Given the description of an element on the screen output the (x, y) to click on. 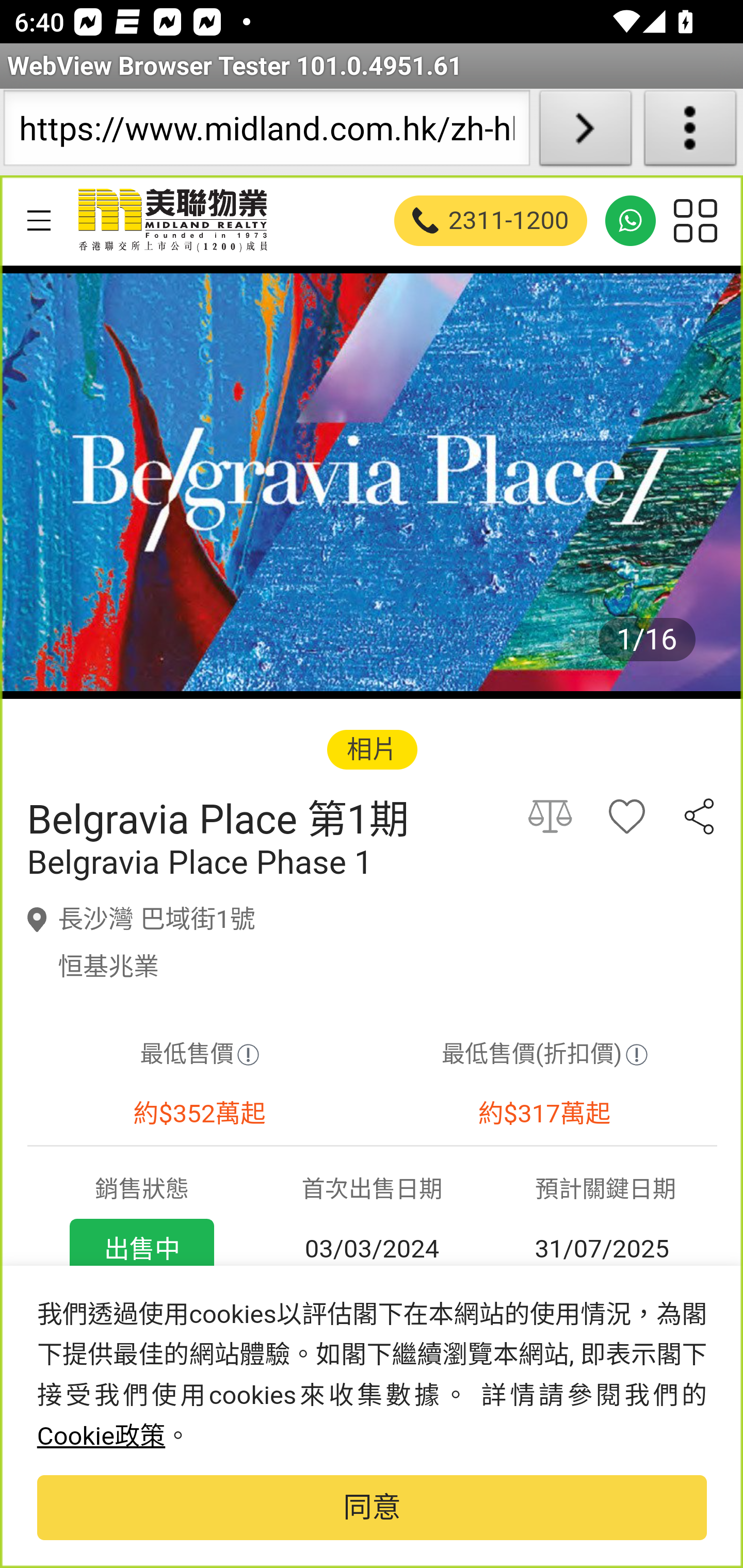
Load URL (585, 132)
About WebView (690, 132)
美聯物業 - 香港地產代理 (171, 220)
2311-1200 (490, 219)
WhatsApp: 2311-1200 (630, 219)
相片 (372, 749)
長沙灣 巴域街1號 (156, 918)
最低售價 (199, 1054)
最低售價(折扣價) (543, 1054)
出售中 (141, 1249)
Cookie政策 (101, 1435)
同意 (372, 1508)
